Given the description of an element on the screen output the (x, y) to click on. 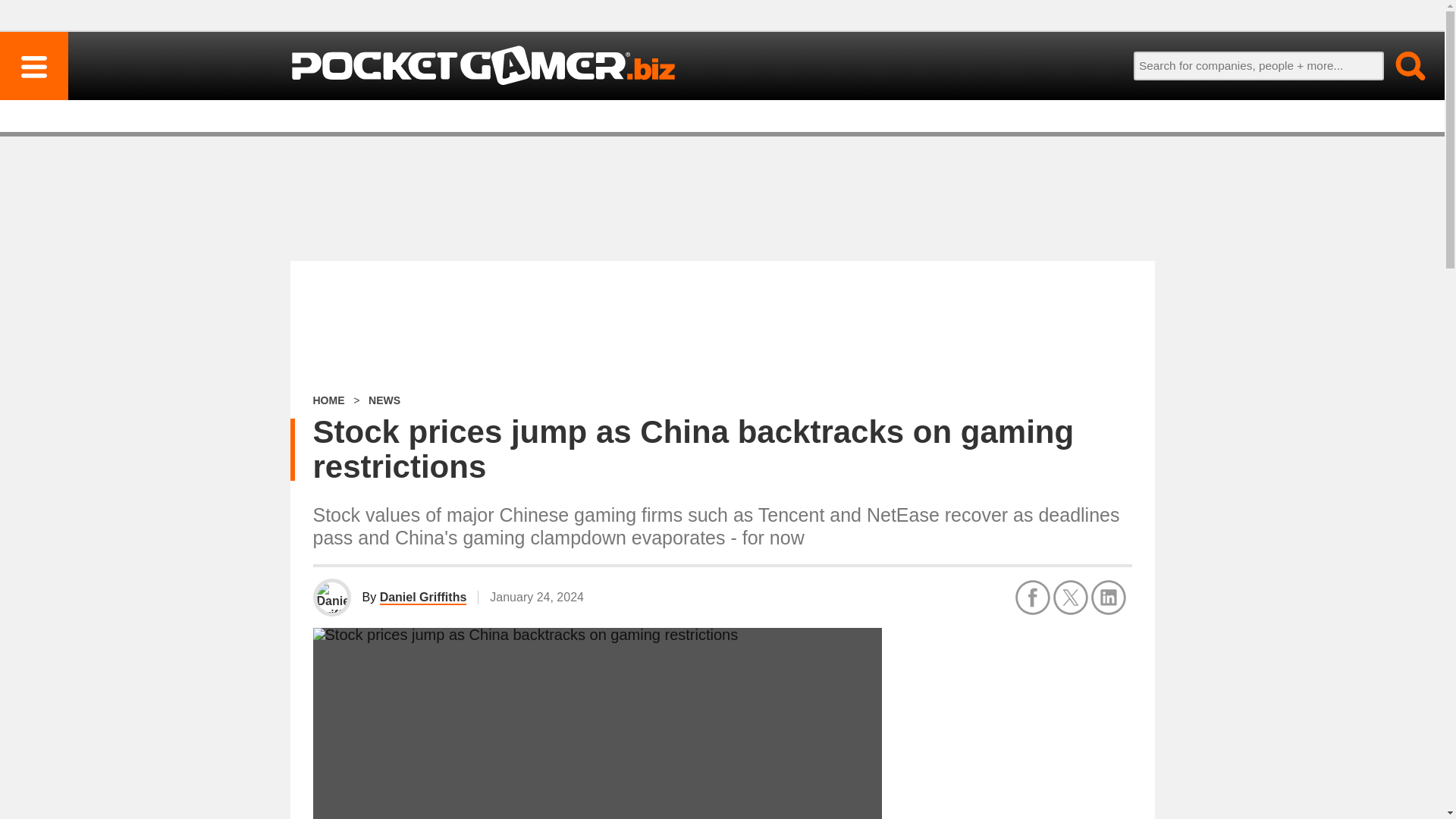
Go (1402, 65)
NEWS (384, 400)
Daniel Griffiths (423, 597)
HOME (328, 400)
Go (1402, 65)
